Given the description of an element on the screen output the (x, y) to click on. 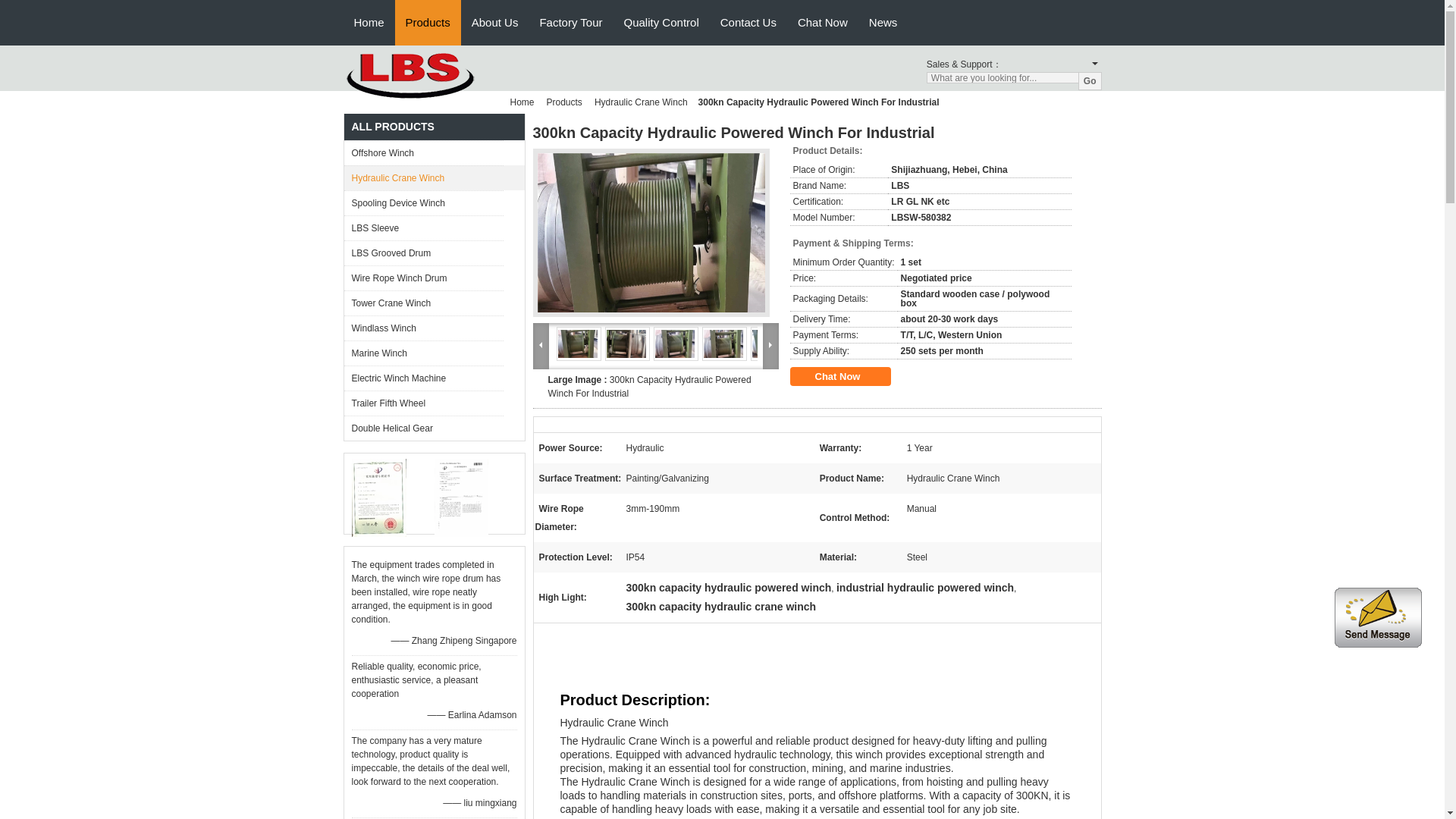
Tower Crane Winch (423, 302)
LBS Grooved Drum (423, 252)
Products (427, 16)
News (883, 16)
Offshore Winch (423, 152)
Spooling Device Winch (423, 202)
Contact Us (748, 16)
Factory Tour (570, 16)
LBS Sleeve (423, 227)
Wire Rope Winch Drum (423, 277)
